Given the description of an element on the screen output the (x, y) to click on. 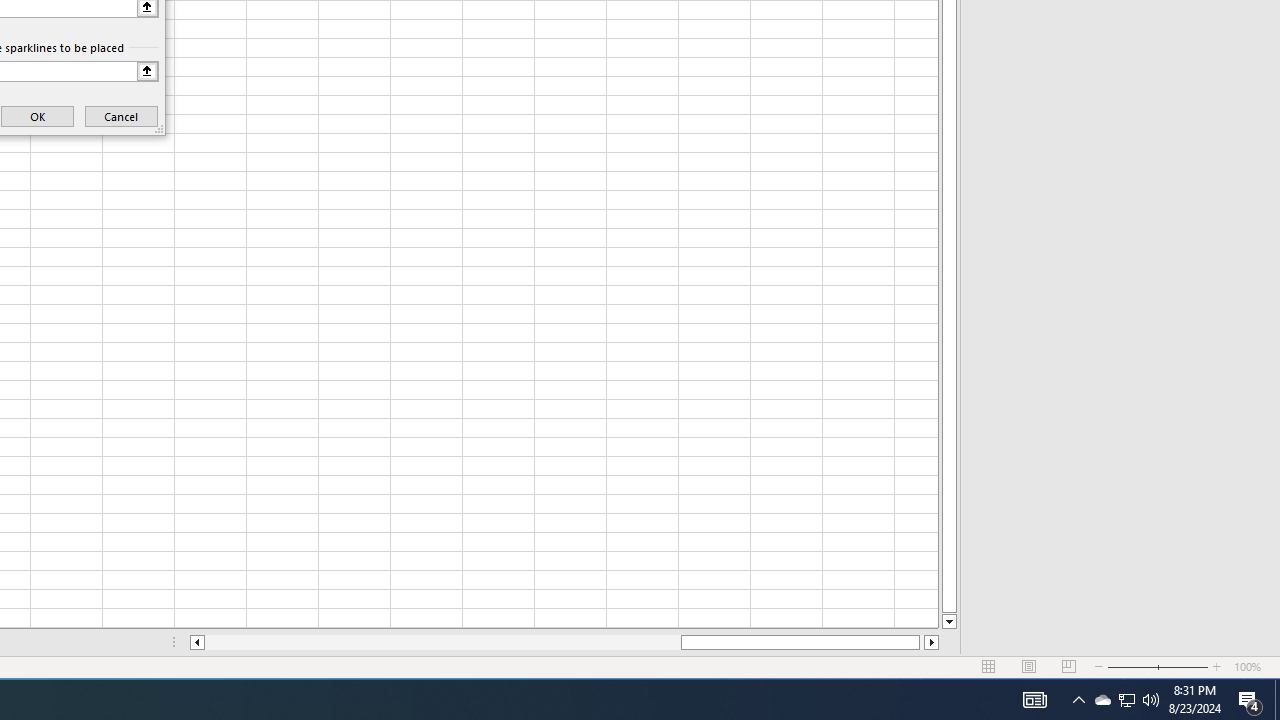
Zoom In (1217, 667)
Page Break Preview (1069, 667)
Page left (442, 642)
Normal (988, 667)
Column left (196, 642)
Class: NetUIScrollBar (564, 642)
Zoom Out (1131, 667)
Page right (922, 642)
Column right (932, 642)
Zoom (1158, 667)
Line down (948, 622)
